Given the description of an element on the screen output the (x, y) to click on. 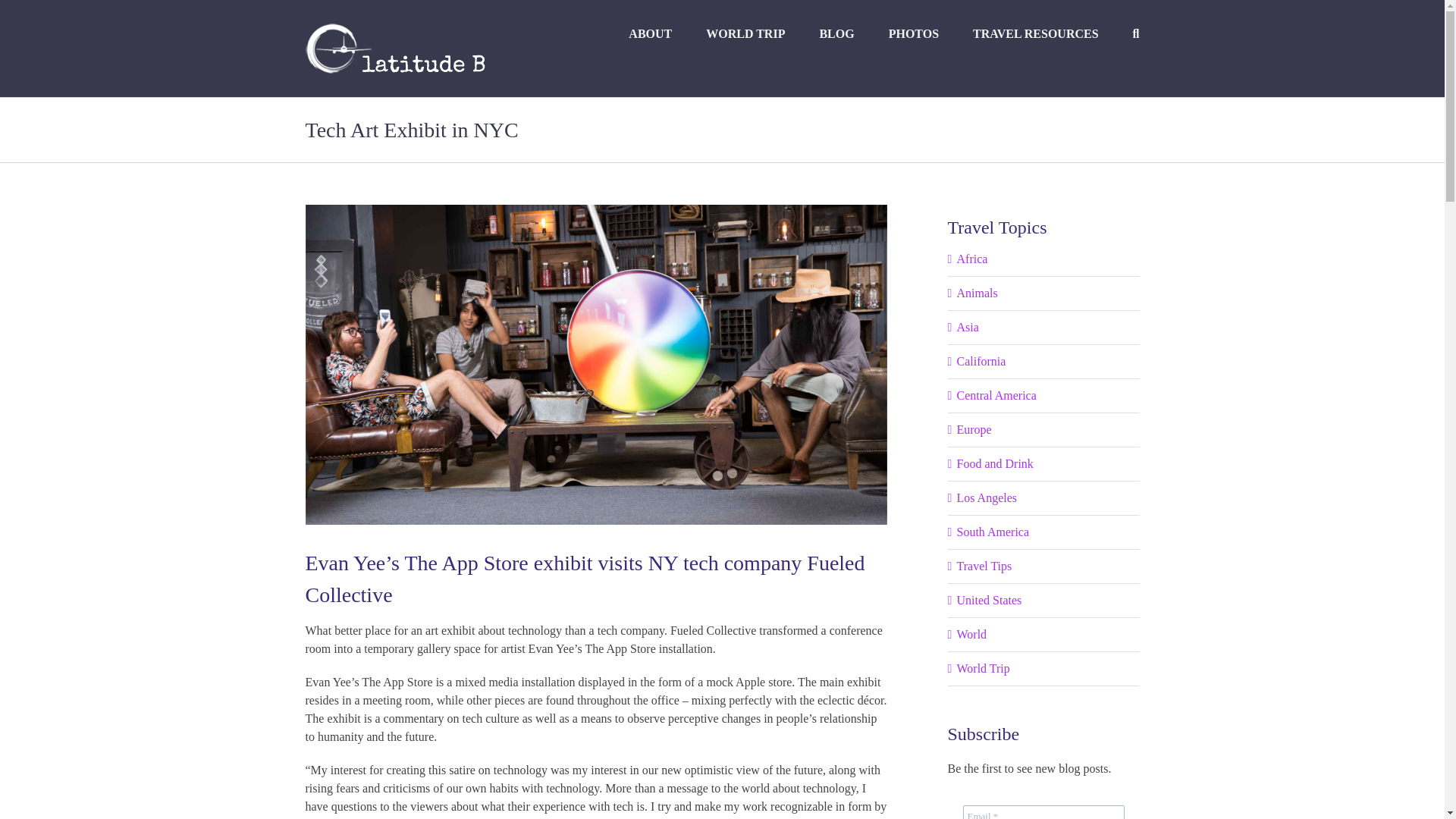
California (1044, 361)
Los Angeles (1044, 497)
South America (1044, 532)
Email (1043, 812)
Europe (1044, 429)
Food and Drink (1044, 464)
Asia (1044, 327)
Central America (1044, 395)
TRAVEL RESOURCES (1035, 32)
